Given the description of an element on the screen output the (x, y) to click on. 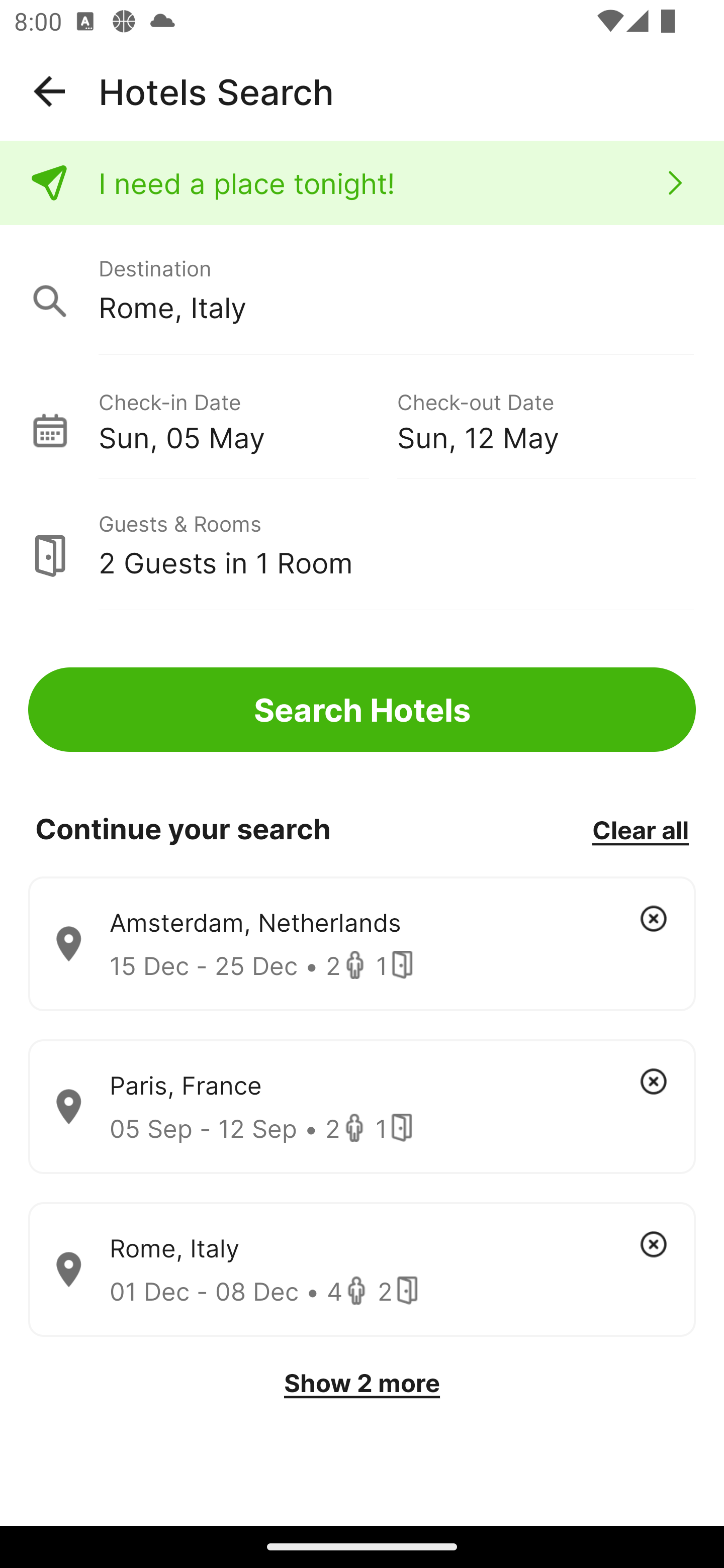
I need a place tonight! (362, 183)
Destination Rome, Italy (362, 290)
Check-in Date Sun, 05 May (247, 418)
Check-out Date Sun, 12 May (546, 418)
Guests & Rooms 2 Guests in 1 Room (362, 545)
Search Hotels (361, 709)
Clear all (640, 829)
Amsterdam, Netherlands 15 Dec - 25 Dec • 2  1  (361, 943)
Paris, France 05 Sep - 12 Sep • 2  1  (361, 1106)
Rome, Italy 01 Dec - 08 Dec • 4  2  (361, 1269)
Show 2 more (362, 1382)
